Given the description of an element on the screen output the (x, y) to click on. 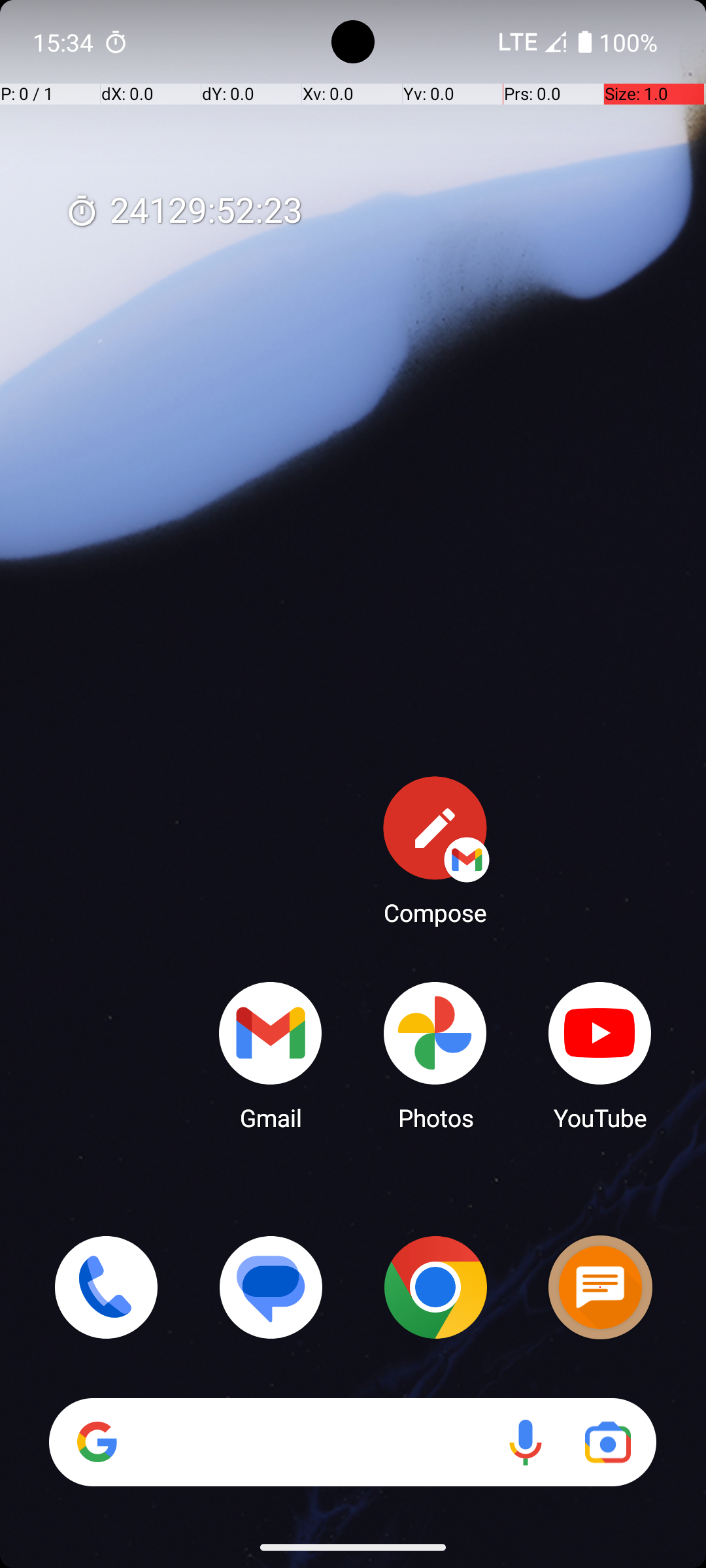
24129:52:23 Element type: android.widget.TextView (183, 210)
Compose Element type: android.widget.TextView (435, 849)
